Given the description of an element on the screen output the (x, y) to click on. 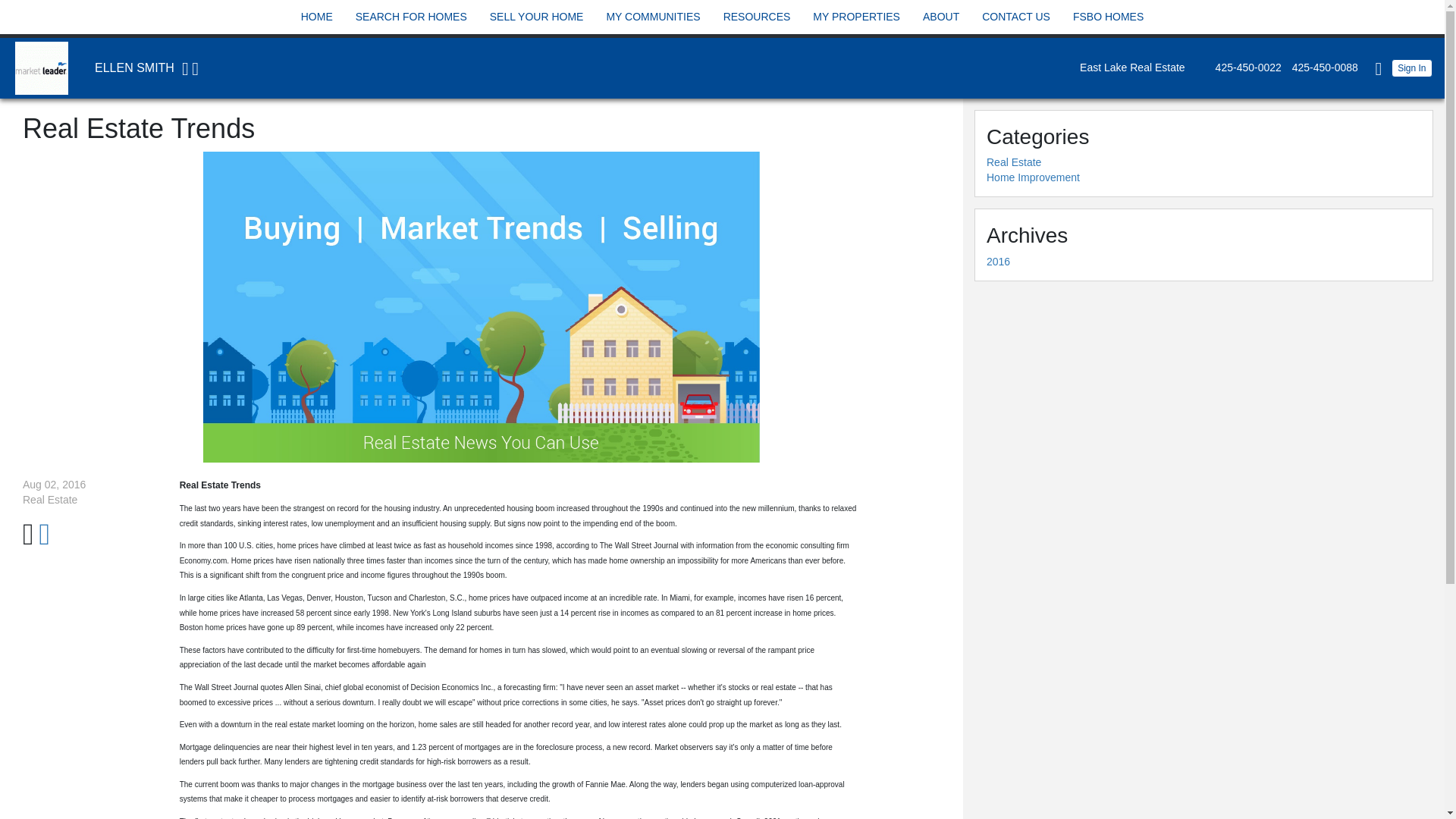
Home Improvement (1033, 177)
ABOUT (940, 17)
CONTACT US (1016, 17)
MY PROPERTIES (856, 17)
Sign In (1411, 67)
RESOURCES (756, 17)
425-450-0022 (1244, 67)
MY COMMUNITIES (652, 17)
425-450-0088 (1321, 67)
SELL YOUR HOME (537, 17)
SEARCH FOR HOMES (411, 17)
2016 (998, 261)
FSBO HOMES (1107, 17)
HOME (316, 17)
Real Estate (1014, 162)
